Given the description of an element on the screen output the (x, y) to click on. 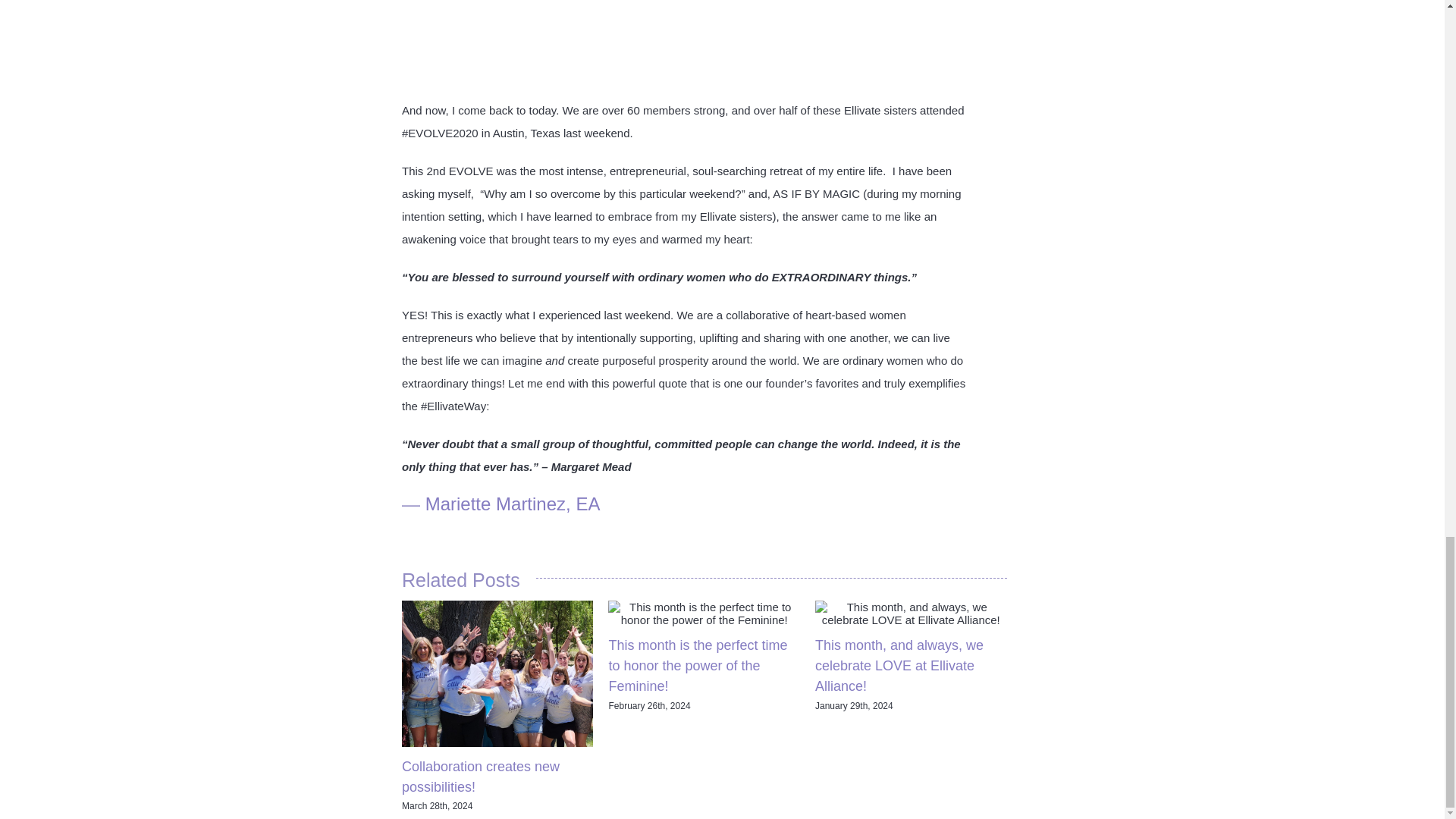
The Ellivate Alliance - The Magic of EVOLVE (844, 45)
Collaboration creates new possibilities! (480, 776)
Mariette Martinez, EA (512, 503)
Collaboration creates new possibilities! (480, 776)
